Given the description of an element on the screen output the (x, y) to click on. 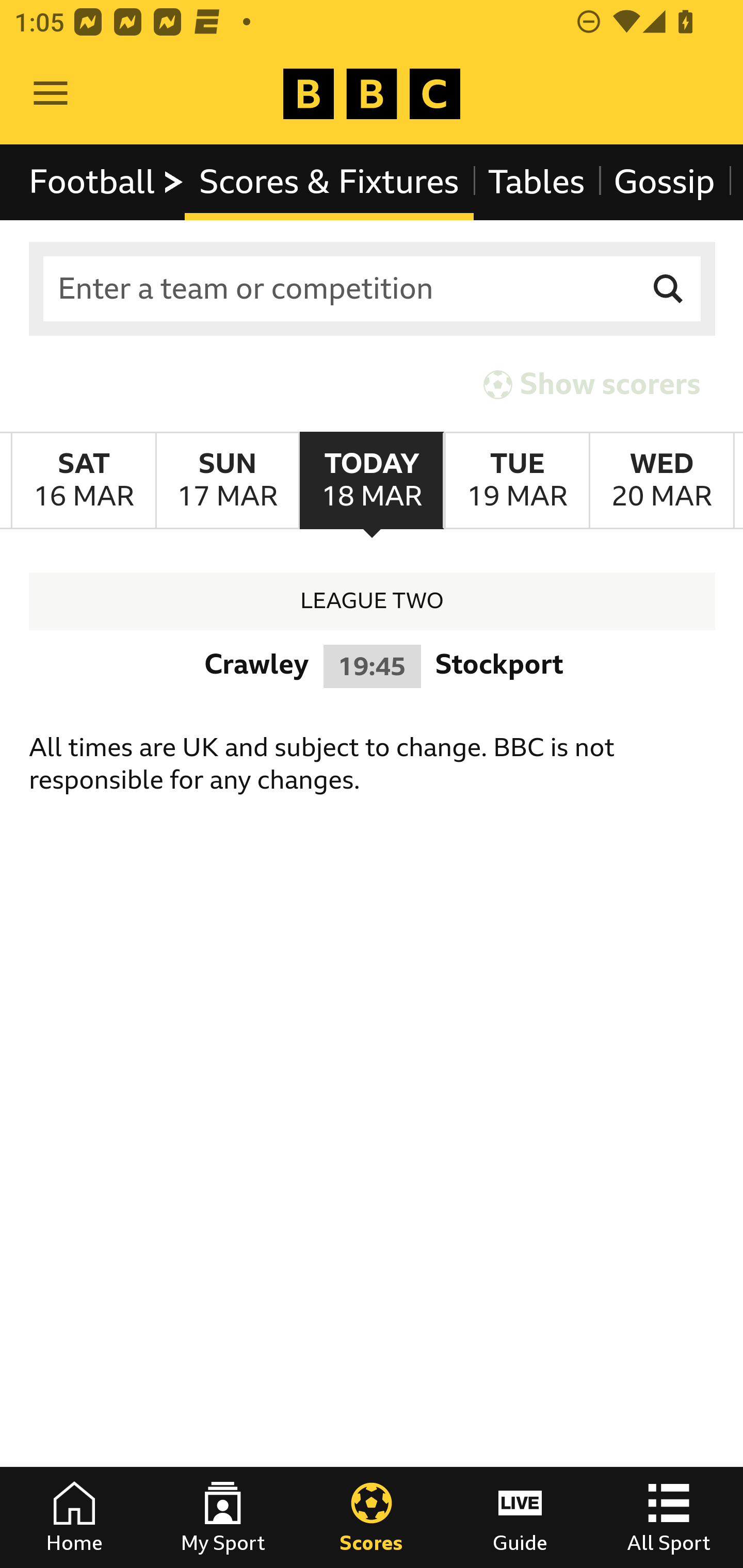
Open Menu (50, 93)
Football  (106, 181)
Scores & Fixtures (329, 181)
Tables (536, 181)
Gossip (664, 181)
Search (669, 289)
Show scorers (591, 383)
SaturdayMarch 16th Saturday March 16th (83, 480)
SundayMarch 17th Sunday March 17th (227, 480)
TuesdayMarch 19th Tuesday March 19th (516, 480)
WednesdayMarch 20th Wednesday March 20th (661, 480)
Home (74, 1517)
My Sport (222, 1517)
Guide (519, 1517)
All Sport (668, 1517)
